Given the description of an element on the screen output the (x, y) to click on. 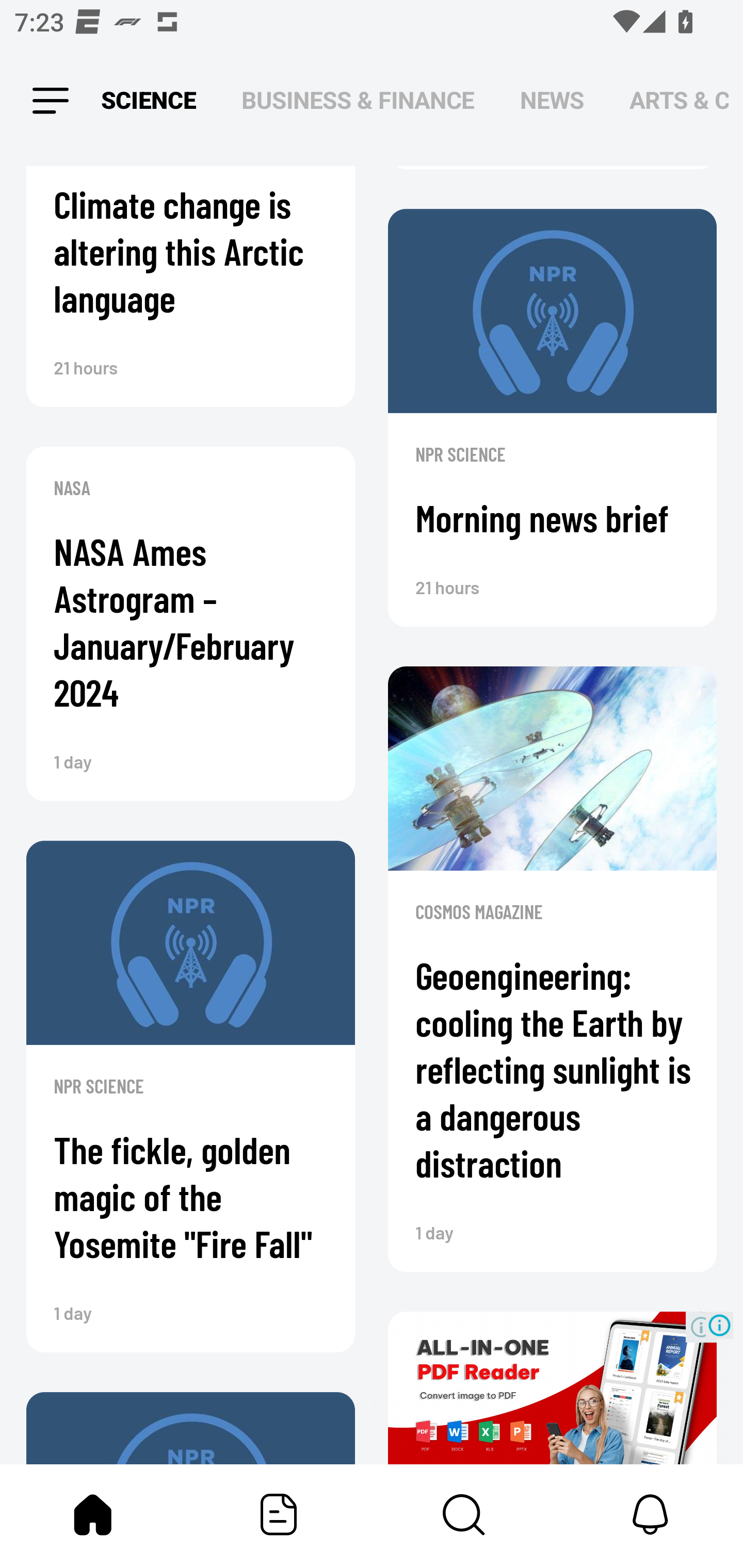
Leading Icon (50, 101)
BUSINESS & FINANCE (357, 100)
NEWS (551, 100)
ARTS & CULTURE (678, 100)
Ad Choices Icon (719, 1325)
Featured (278, 1514)
Content Store (464, 1514)
Notifications (650, 1514)
